Given the description of an element on the screen output the (x, y) to click on. 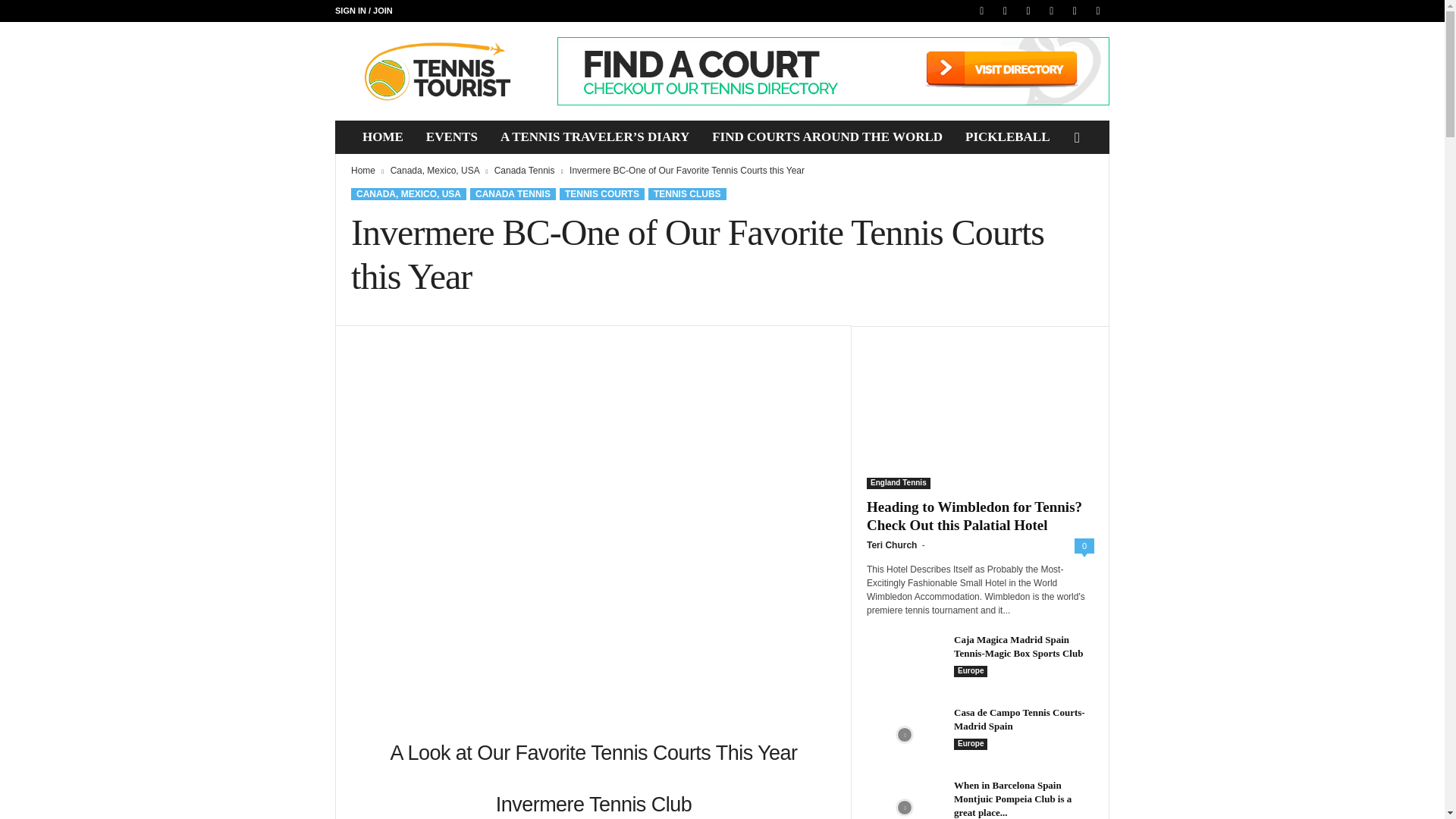
Canada Tennis (524, 170)
TENNIS COURTS (602, 193)
EVENTS (451, 136)
CANADA TENNIS (513, 193)
The Tennis Tourist (437, 70)
CANADA, MEXICO, USA (407, 193)
Home (362, 170)
FIND COURTS AROUND THE WORLD (826, 136)
HOME (382, 136)
Canada, Mexico, USA (434, 170)
